Given the description of an element on the screen output the (x, y) to click on. 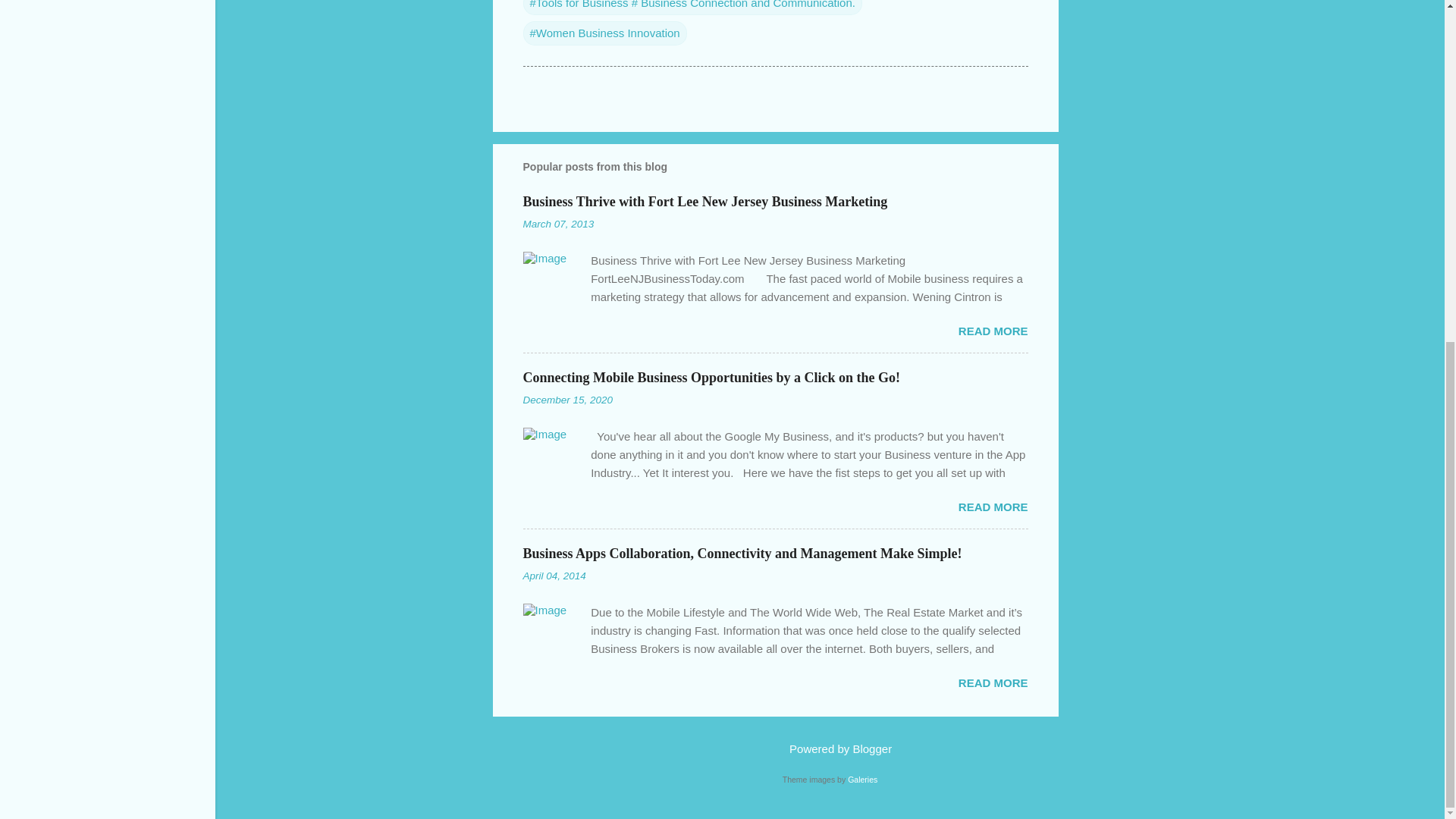
December 15, 2020 (567, 399)
READ MORE (992, 506)
Galeries (862, 778)
READ MORE (992, 330)
Powered by Blogger (829, 748)
March 07, 2013 (558, 224)
READ MORE (992, 682)
April 04, 2014 (554, 575)
Business Thrive with Fort Lee New Jersey Business Marketing (705, 201)
permanent link (558, 224)
